Given the description of an element on the screen output the (x, y) to click on. 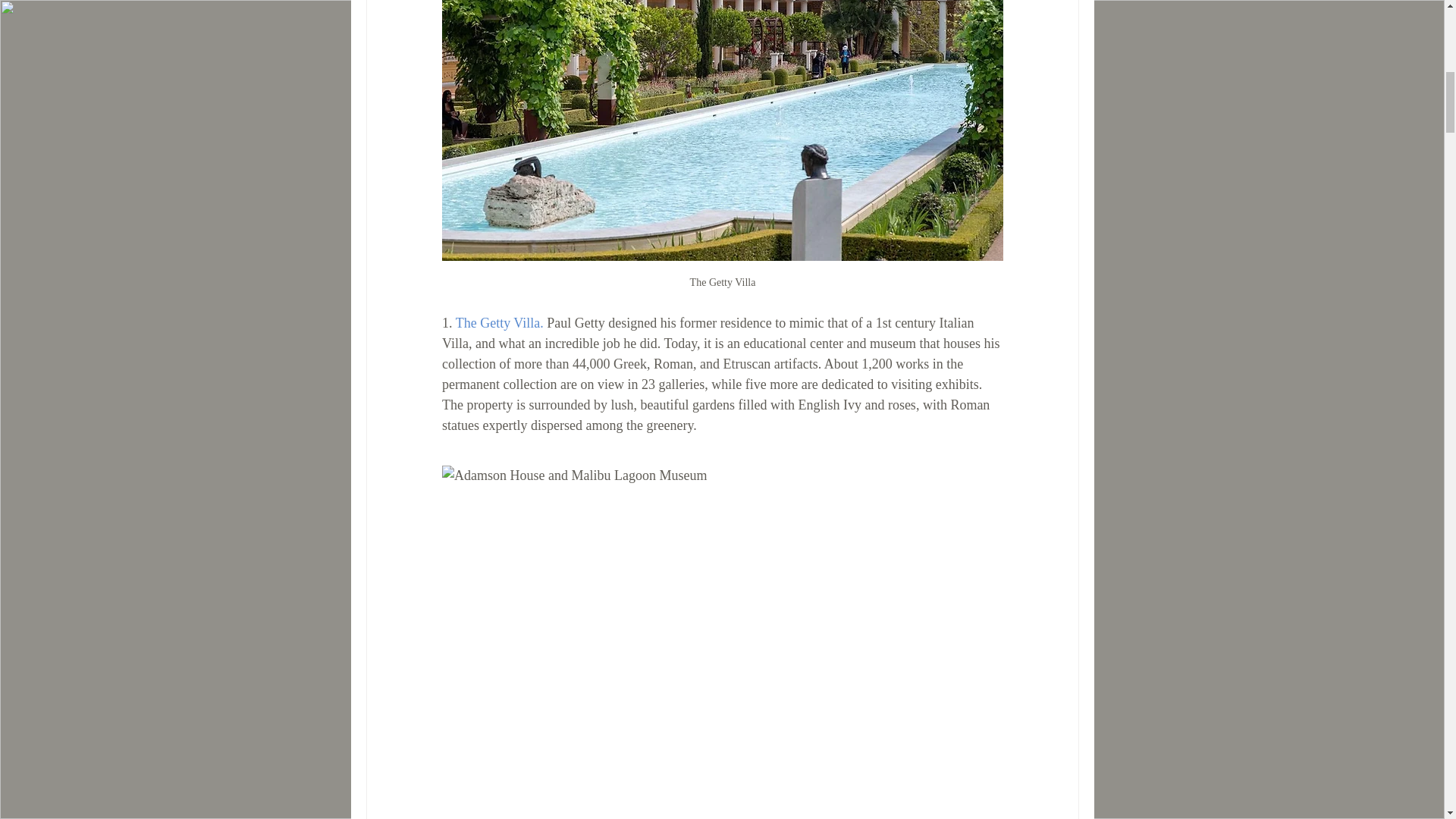
The Getty Villa. (498, 322)
